Given the description of an element on the screen output the (x, y) to click on. 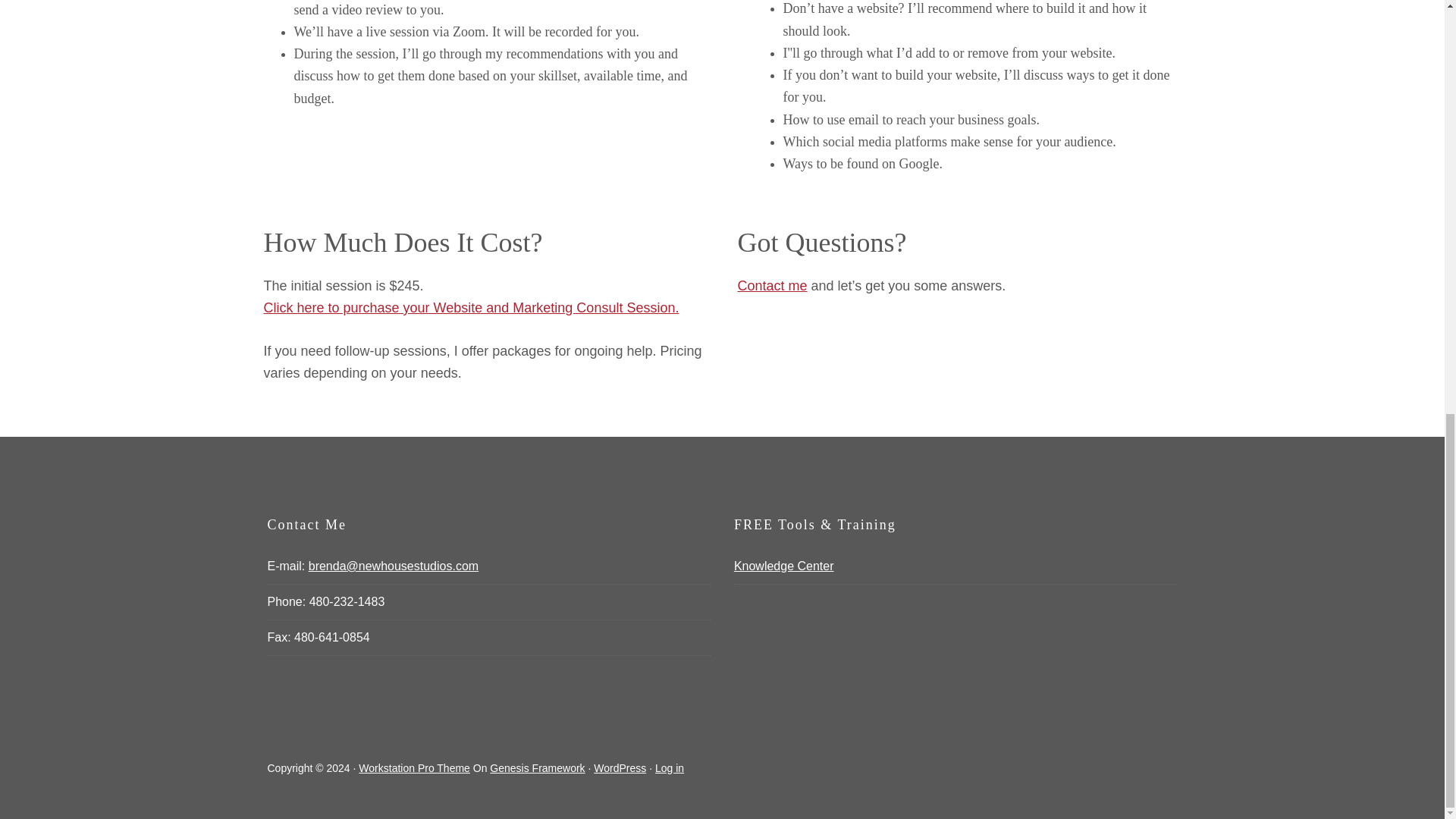
WordPress (620, 767)
Knowledge Center (783, 565)
Log in (669, 767)
Genesis Framework (537, 767)
Workstation Pro Theme (414, 767)
Contact me (771, 285)
